Given the description of an element on the screen output the (x, y) to click on. 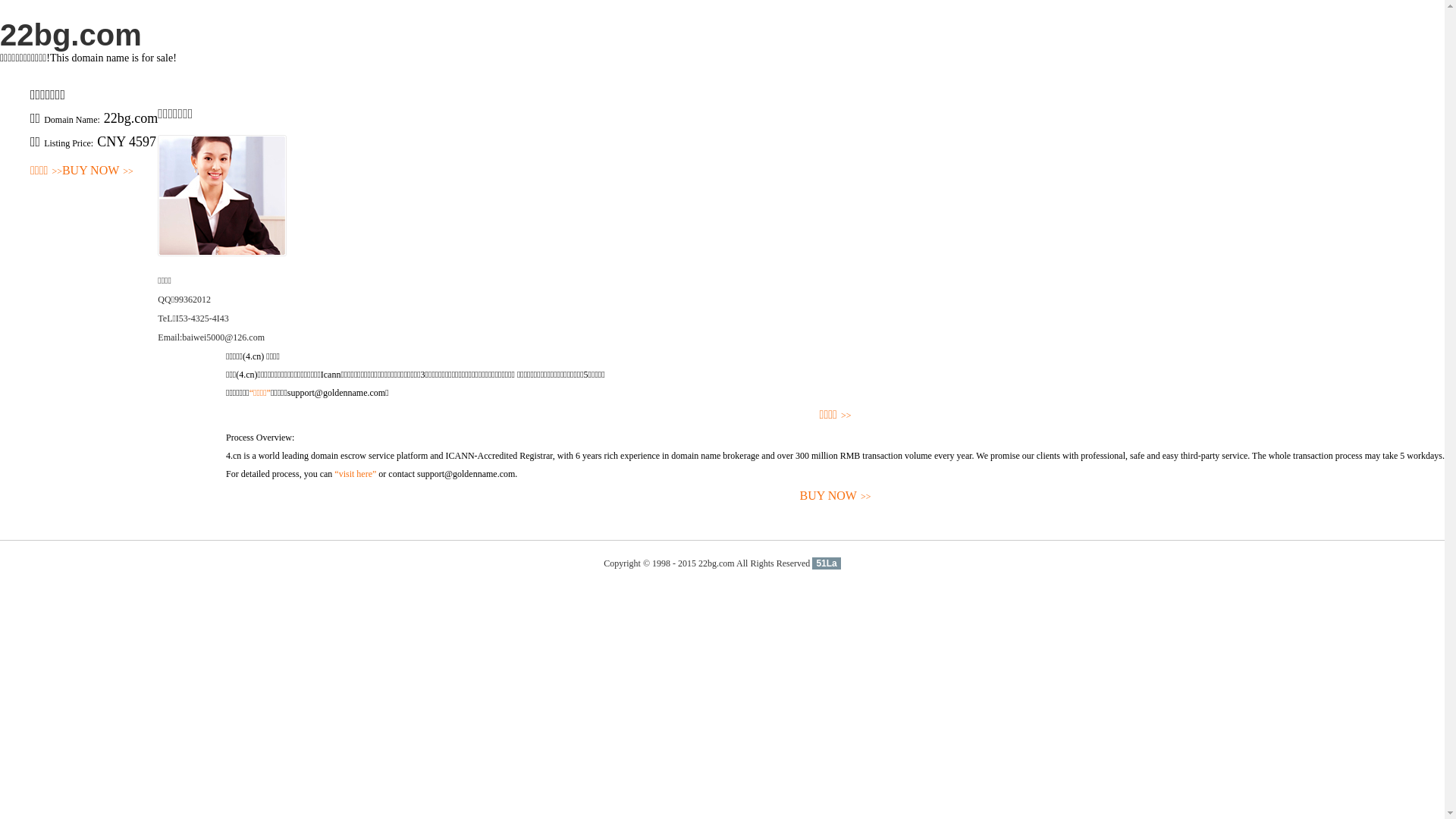
BUY NOW>> Element type: text (834, 496)
51La Element type: text (826, 563)
BUY NOW>> Element type: text (97, 170)
